Given the description of an element on the screen output the (x, y) to click on. 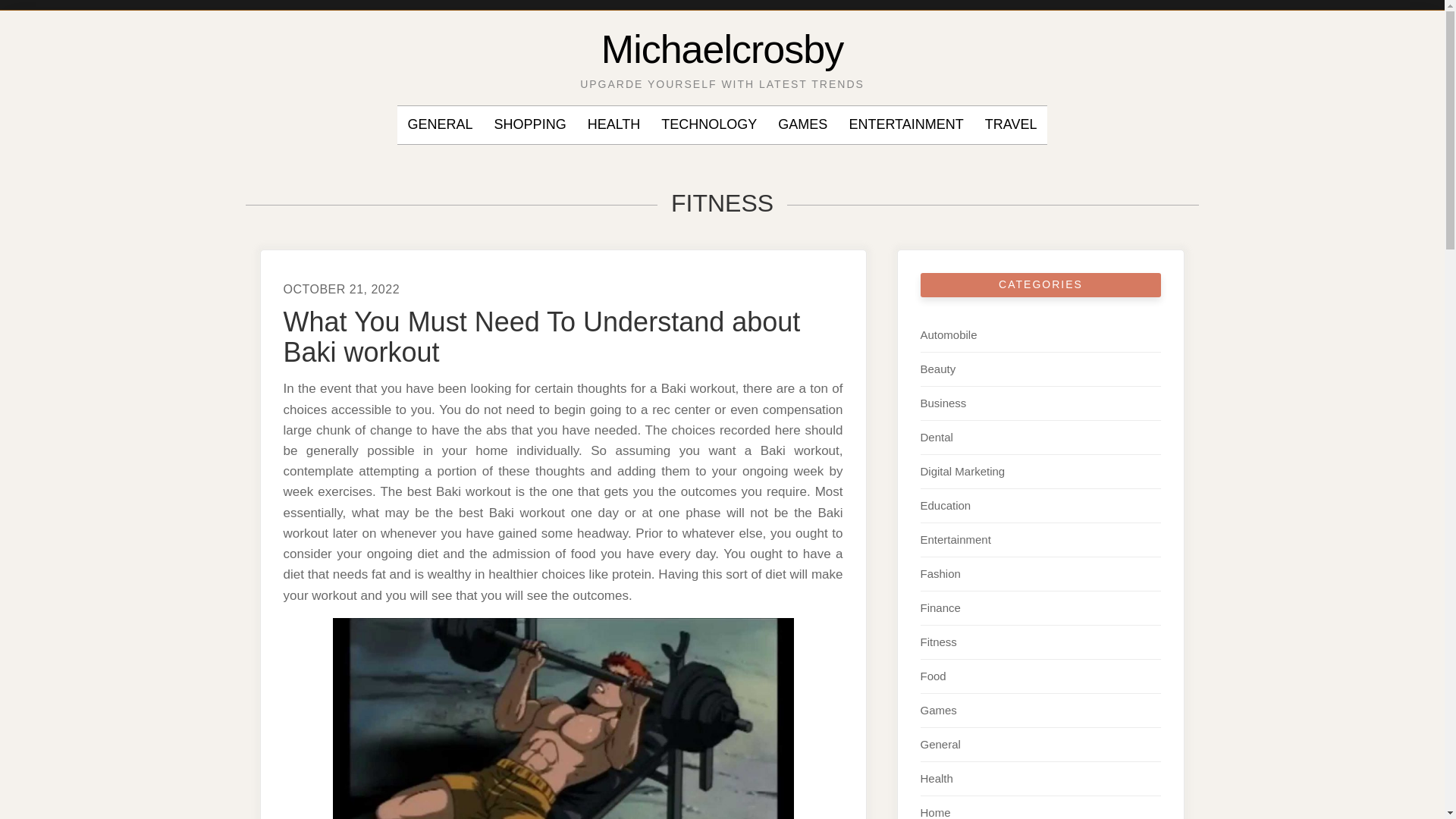
SHOPPING (530, 125)
Fitness (938, 641)
Entertainment (955, 539)
Education (945, 504)
GAMES (802, 125)
What You Must Need To Understand about Baki workout (541, 336)
Fashion (940, 573)
Beauty (938, 368)
TRAVEL (1010, 125)
Food (933, 675)
OCTOBER 21, 2022 (341, 288)
Games (938, 709)
Finance (940, 607)
ENTERTAINMENT (905, 125)
Digital Marketing (963, 471)
